Given the description of an element on the screen output the (x, y) to click on. 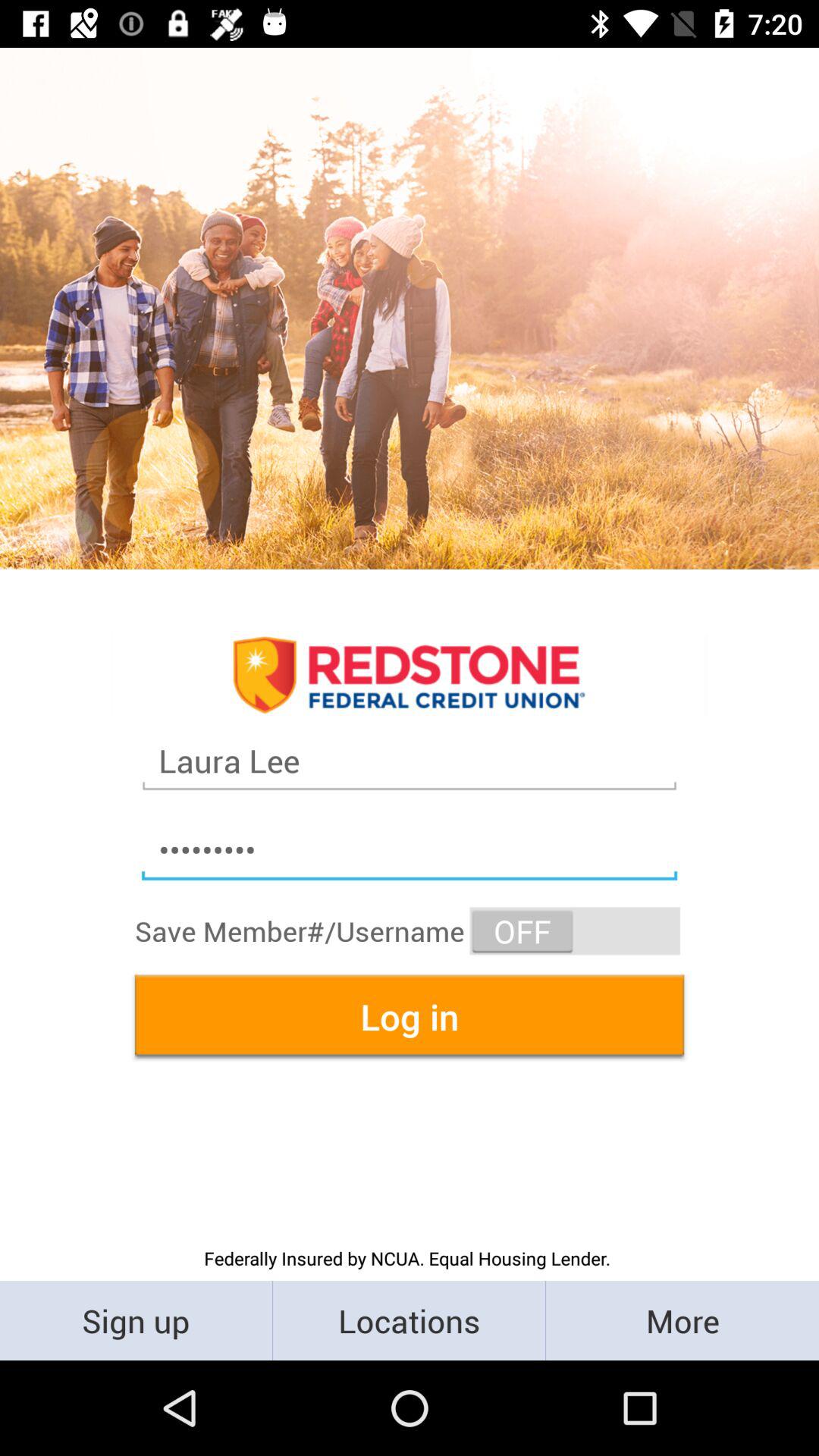
click the item below crowd3116 item (574, 930)
